Given the description of an element on the screen output the (x, y) to click on. 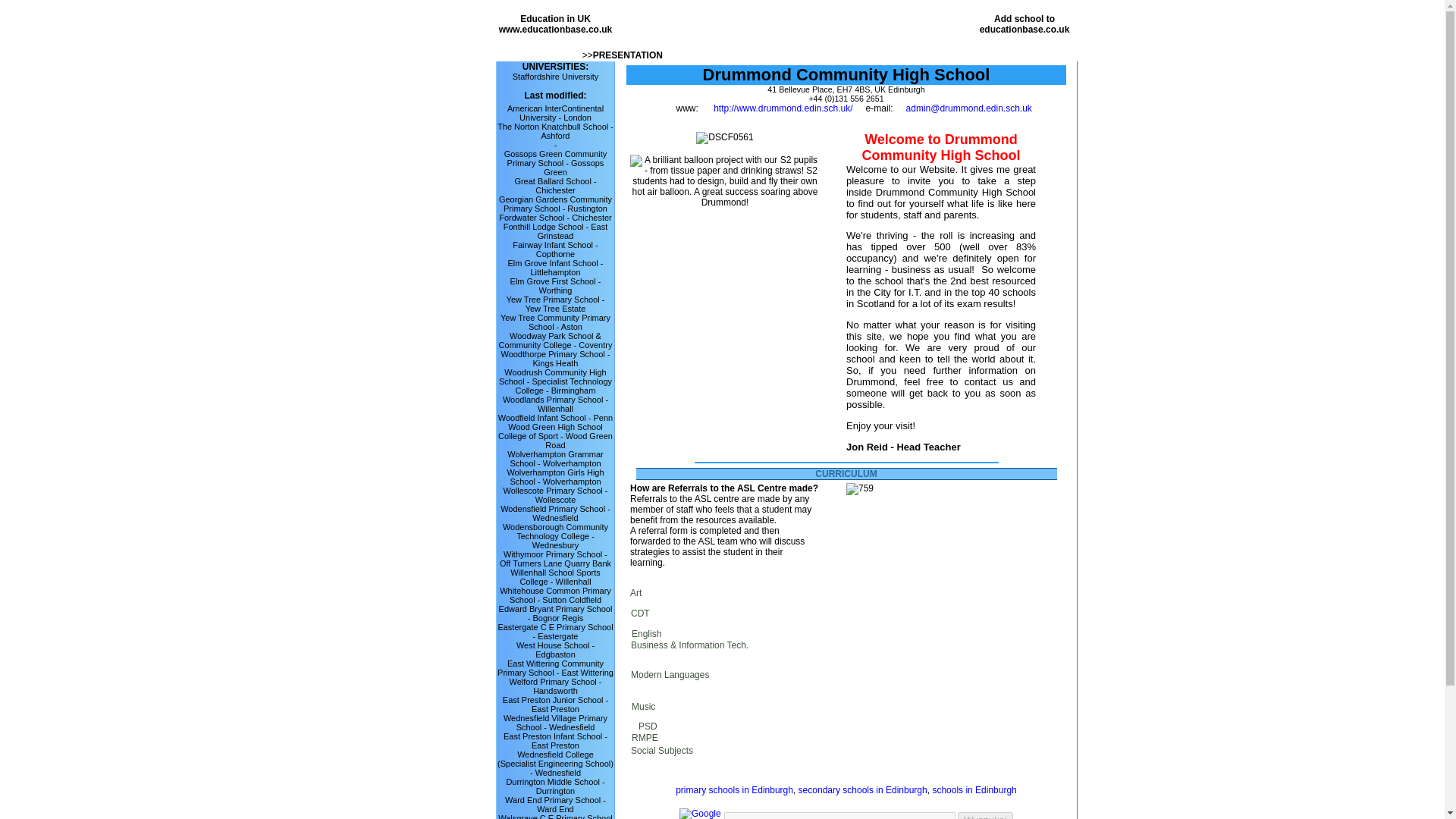
Woodthorpe Primary School - Kings Heath (555, 358)
Fordwater School - Chichester (555, 216)
Wolverhampton Girls High School - Wolverhampton (555, 476)
Great Ballard School - Chichester (554, 185)
East Preston Junior School - East Preston (555, 704)
Fonthill Lodge School - East Grinstead (553, 24)
Eastergate C E Primary School - Eastergate (555, 230)
East Preston Infant School - East Preston (554, 631)
Woodlands Primary School - Willenhall (555, 741)
